Given the description of an element on the screen output the (x, y) to click on. 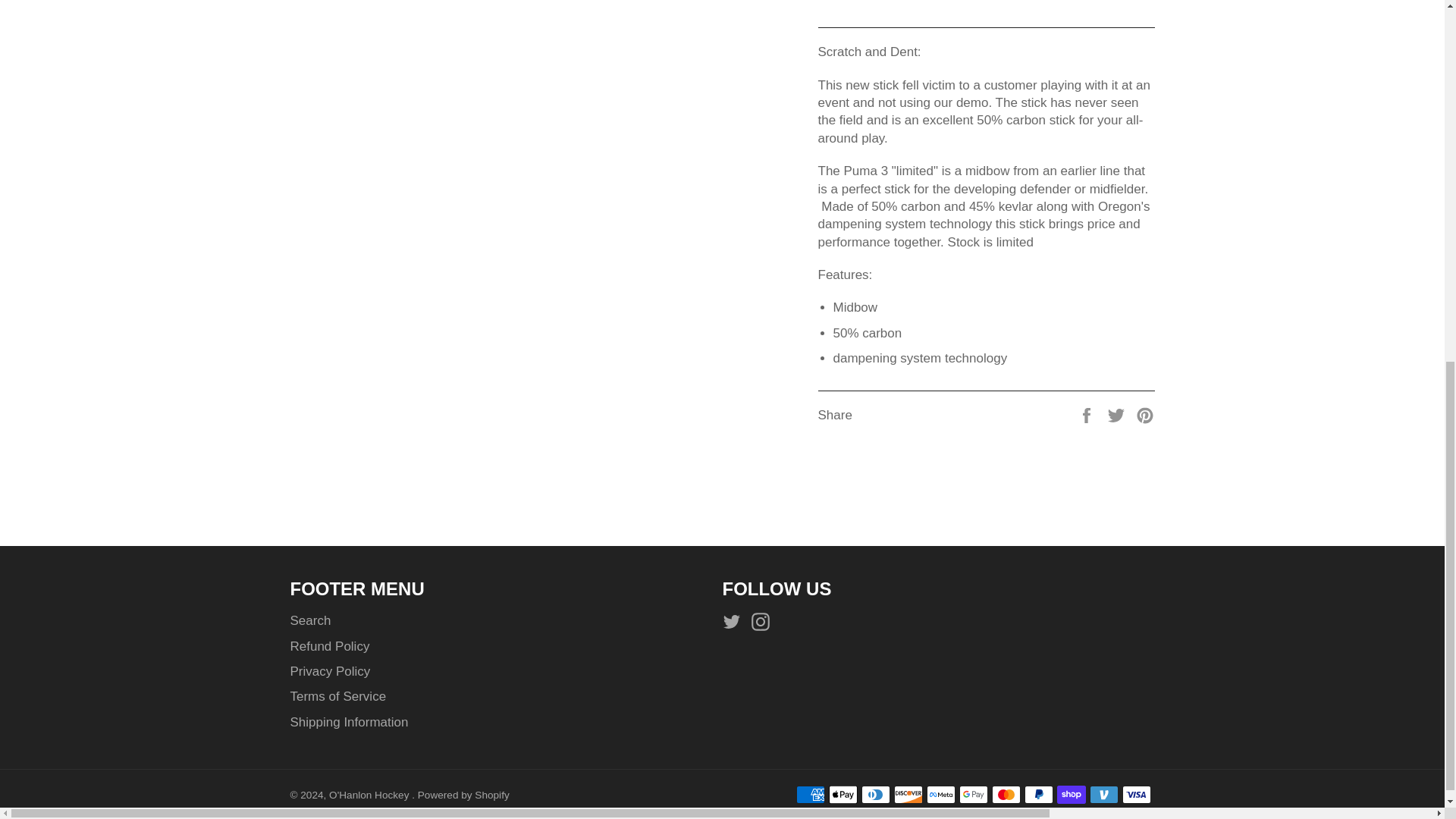
Pin on Pinterest (1144, 414)
Tweet on Twitter (1117, 414)
O'Hanlon Hockey  on Twitter (735, 620)
Share on Facebook (1088, 414)
O'Hanlon Hockey  on Instagram (764, 620)
